Given the description of an element on the screen output the (x, y) to click on. 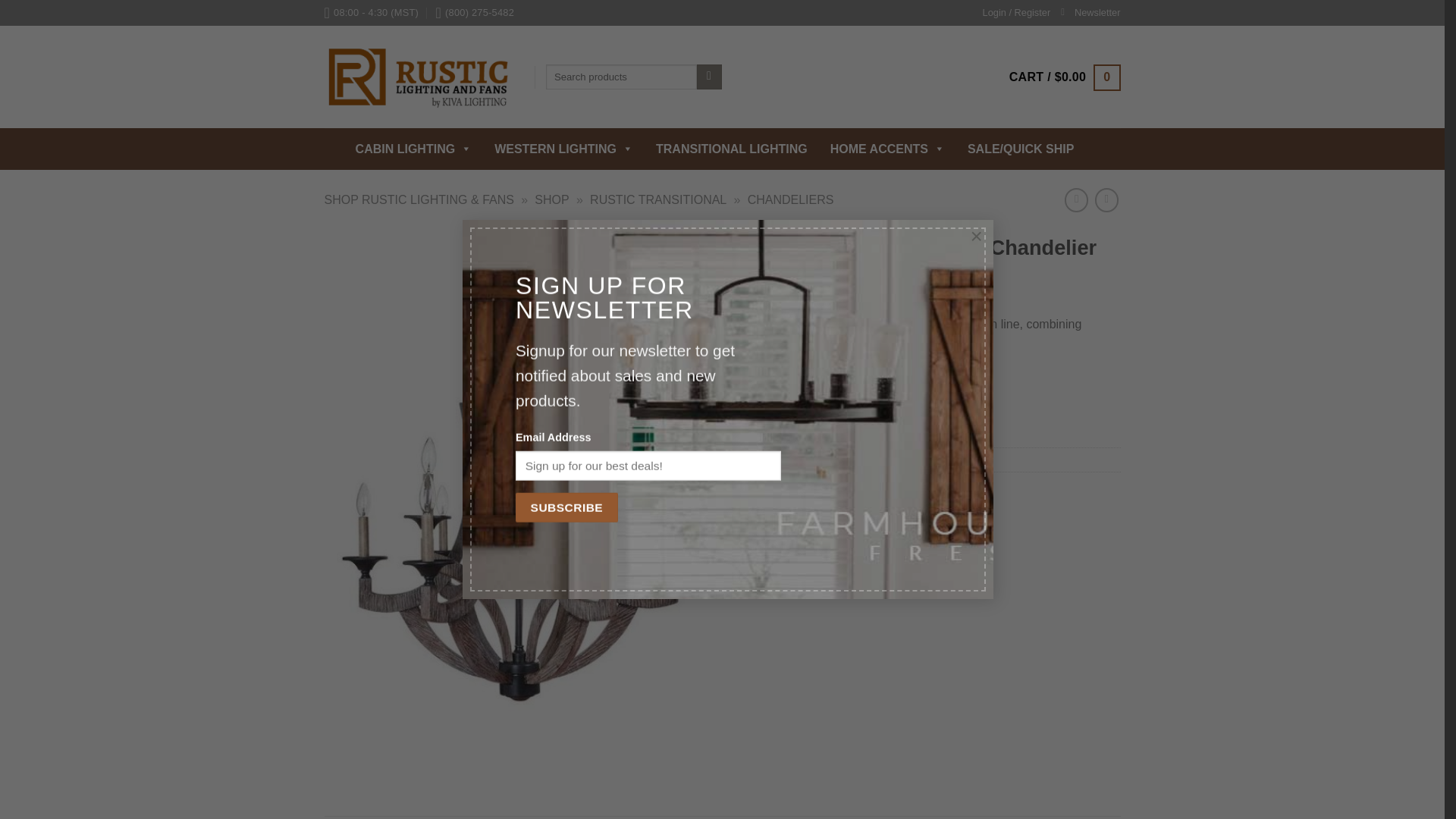
Newsletter (1090, 12)
Subscribe (566, 507)
CABIN LIGHTING (417, 148)
Cart (1065, 77)
Subscribe (566, 507)
Search (709, 77)
Share on Facebook (742, 515)
1 (765, 384)
Sign up for Newsletter (1090, 12)
Email to a Friend (780, 515)
